Given the description of an element on the screen output the (x, y) to click on. 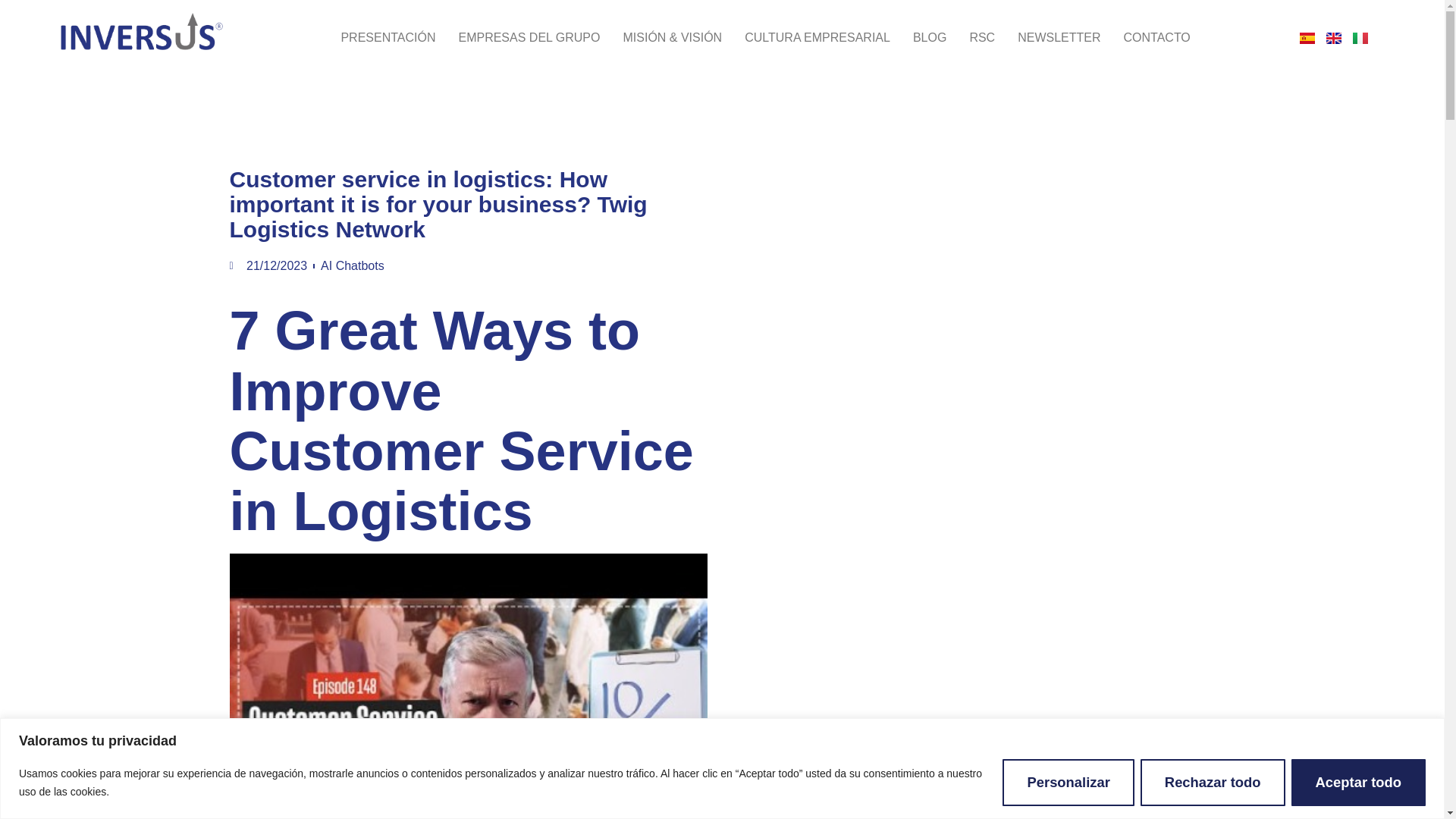
EMPRESAS DEL GRUPO (517, 37)
CONTACTO (1145, 37)
Rechazar todo (1212, 781)
CULTURA EMPRESARIAL (805, 37)
Aceptar todo (1358, 781)
BLOG (917, 37)
Personalizar (1068, 781)
NEWSLETTER (1047, 37)
